Given the description of an element on the screen output the (x, y) to click on. 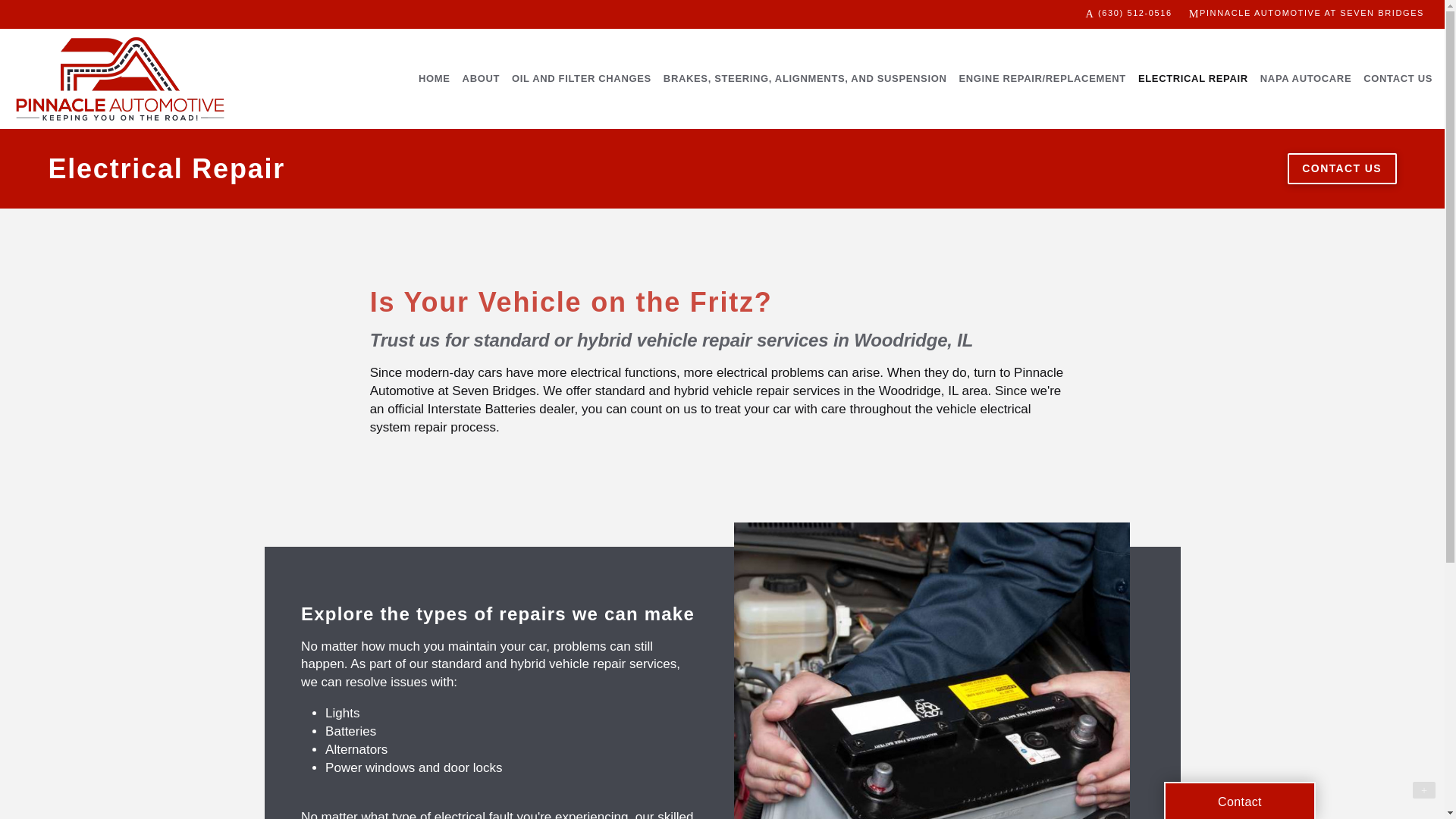
PINNACLE AUTOMOTIVE AT SEVEN BRIDGES (1306, 13)
Pinnacle Automotive at Seven Bridges (119, 78)
HOME (434, 78)
CONTACT US (1397, 78)
NAPA AUTOCARE (1304, 78)
BRAKES, STEERING, ALIGNMENTS, AND SUSPENSION (805, 78)
ELECTRICAL REPAIR (1192, 78)
OIL AND FILTER CHANGES (581, 78)
ABOUT (481, 78)
Contact (1239, 800)
